Given the description of an element on the screen output the (x, y) to click on. 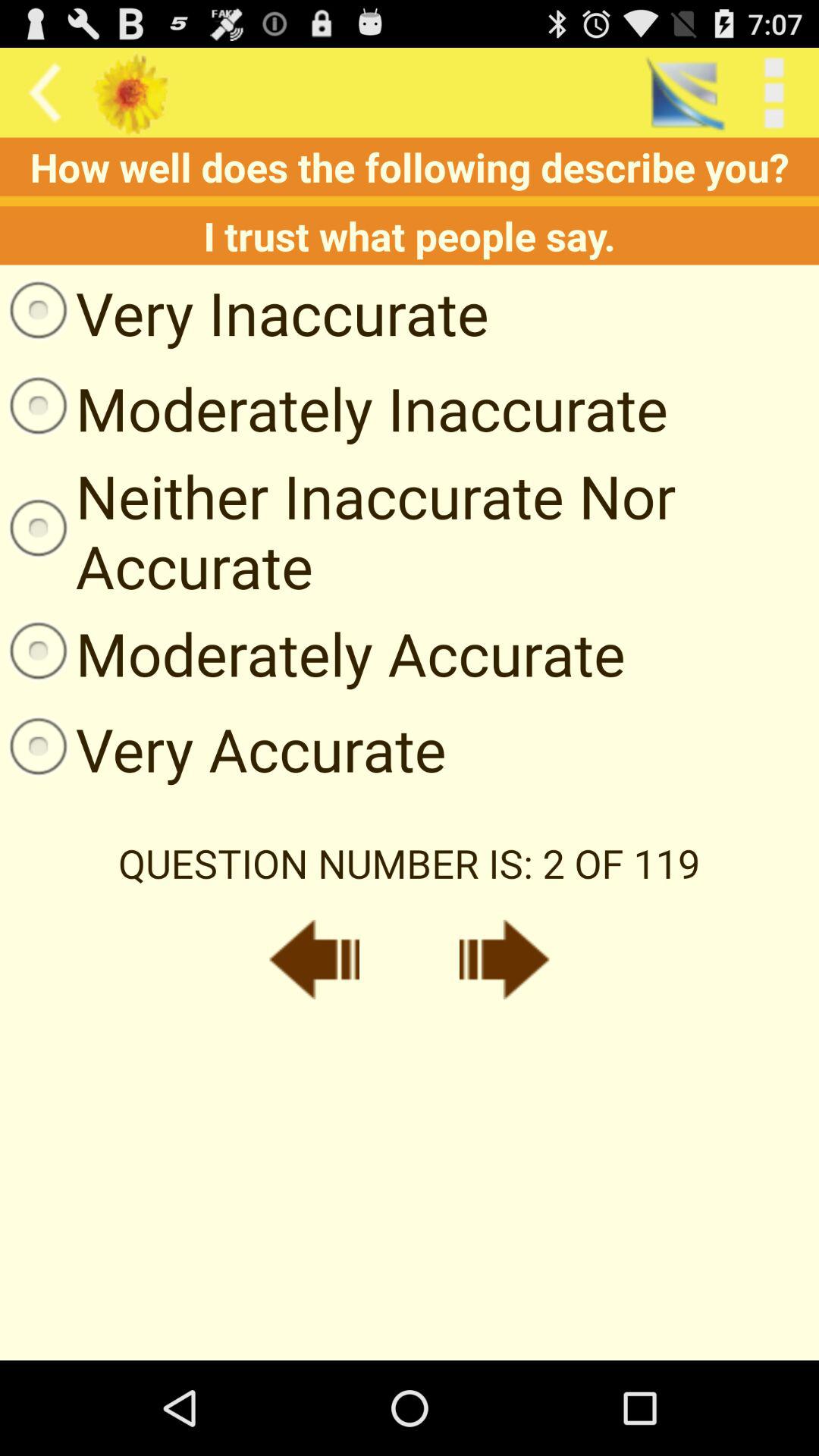
go to previous (314, 959)
